Given the description of an element on the screen output the (x, y) to click on. 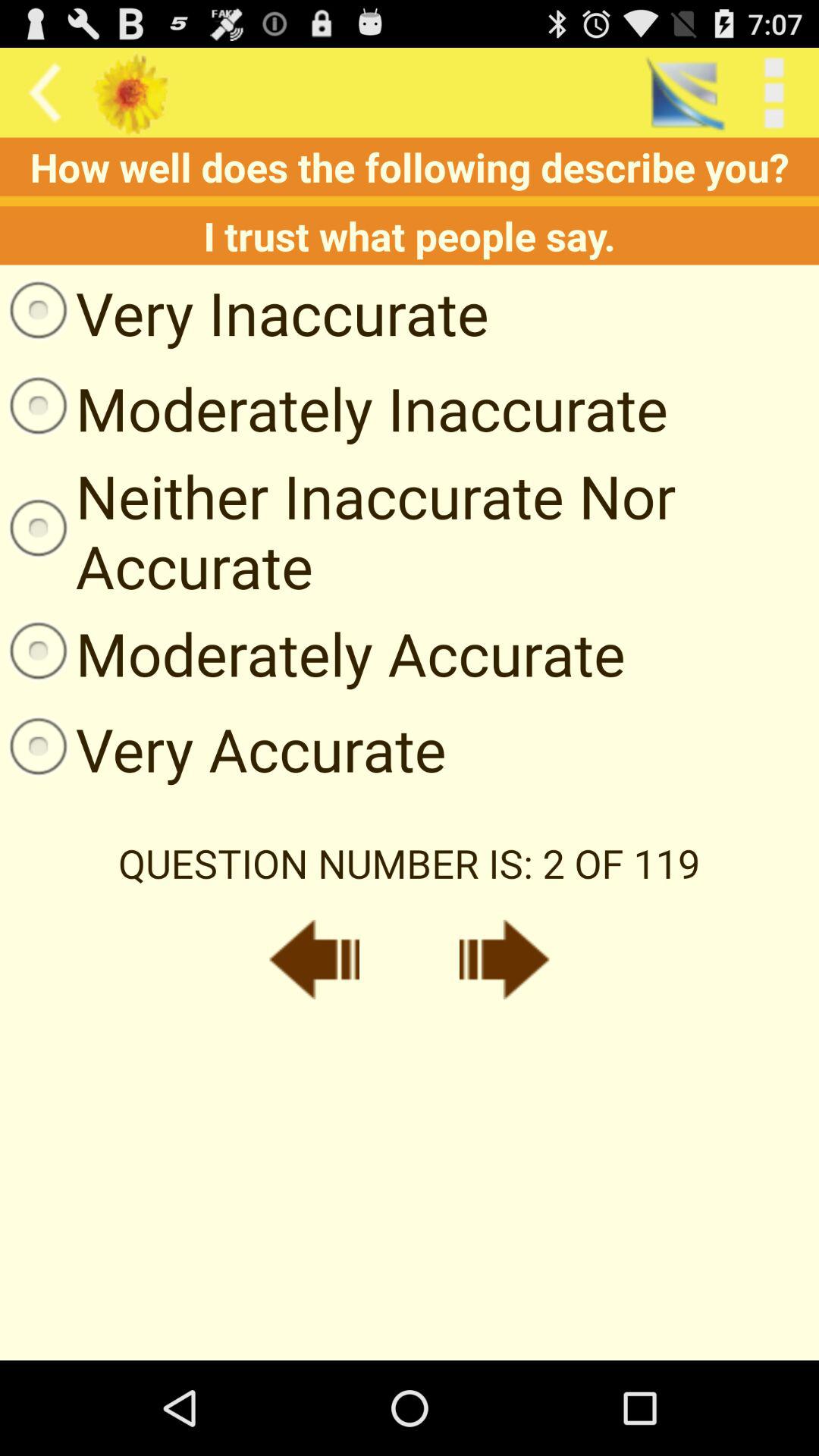
go to previous (314, 959)
